Given the description of an element on the screen output the (x, y) to click on. 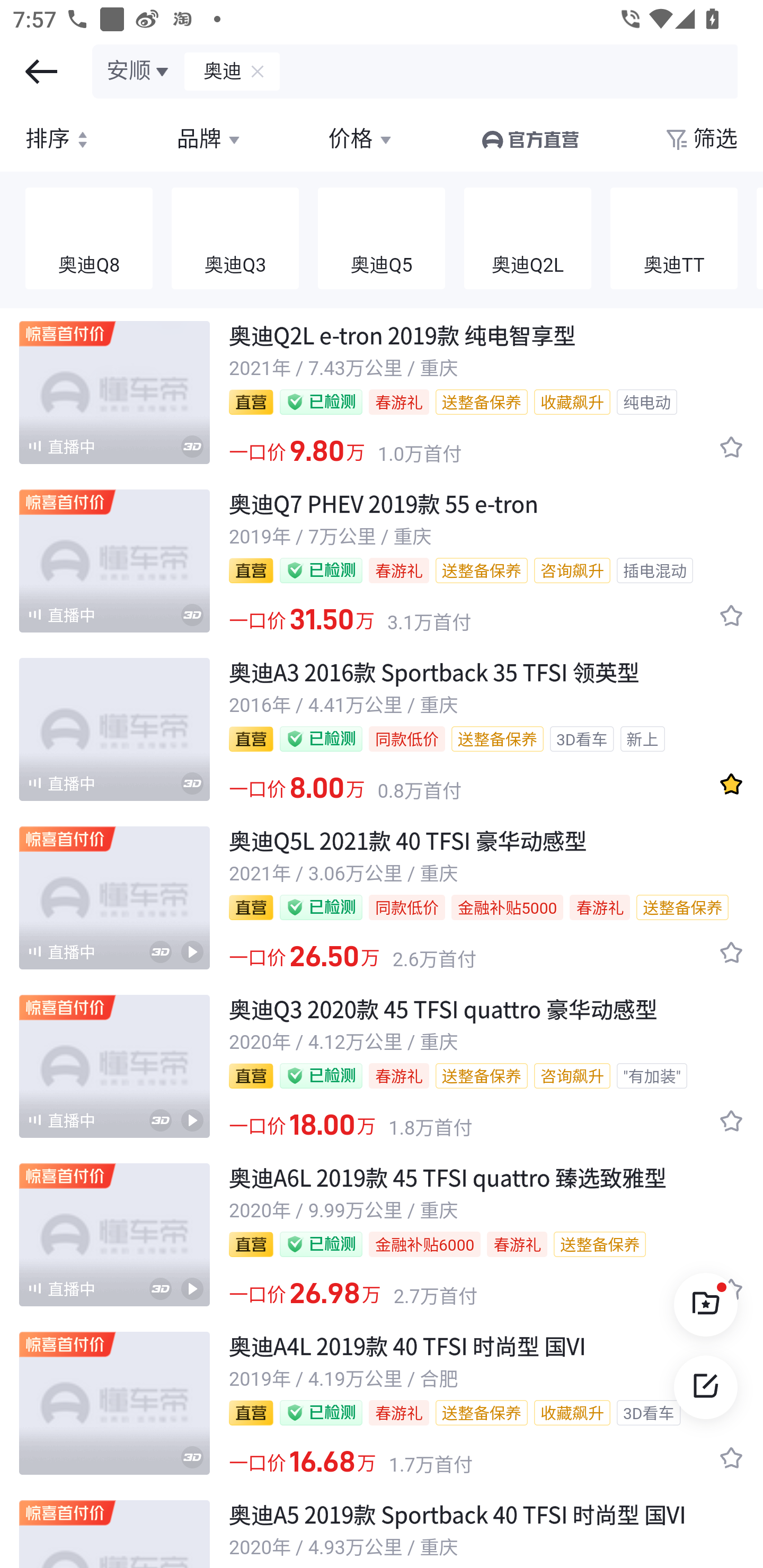
安顺 (139, 70)
奥迪 (213, 70)
排序 (59, 139)
品牌 (210, 139)
价格 (361, 139)
官方直营 (528, 139)
筛选 (700, 139)
奥迪Q8 (88, 239)
奥迪Q3 (235, 239)
奥迪Q5 (381, 239)
奥迪Q2L (527, 239)
奥迪TT (673, 239)
